Given the description of an element on the screen output the (x, y) to click on. 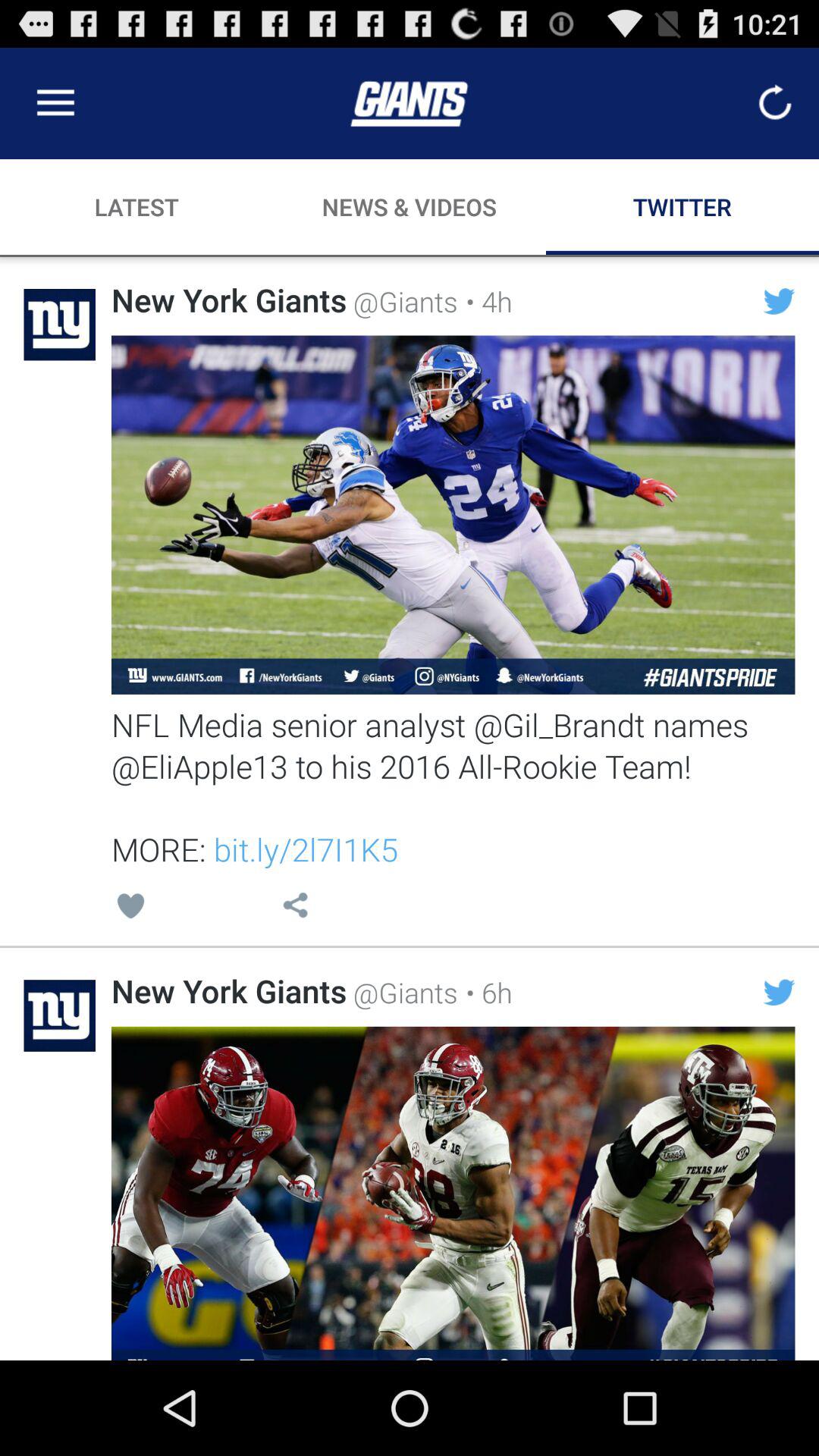
turn off the item to the right of the @giants icon (484, 992)
